Given the description of an element on the screen output the (x, y) to click on. 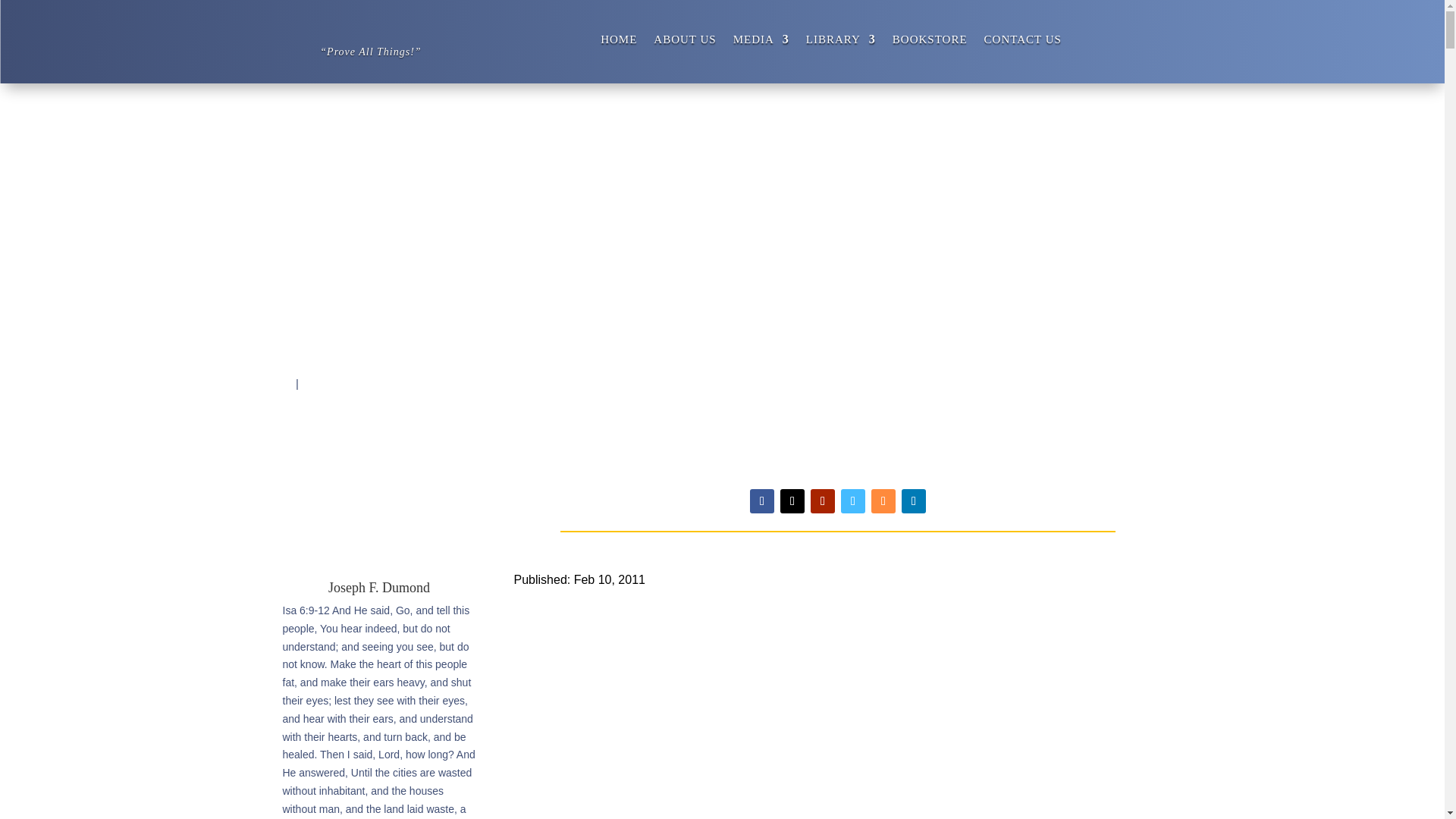
Archived Newsletters (359, 382)
BOOKSTORE (930, 42)
Follow on Facebook (761, 500)
CONTACT US (1022, 42)
MEDIA (761, 42)
Follow on X (792, 500)
Follow on RSS (882, 500)
5846 (279, 382)
Follow on Youtube (822, 500)
LIBRARY (841, 42)
